Given the description of an element on the screen output the (x, y) to click on. 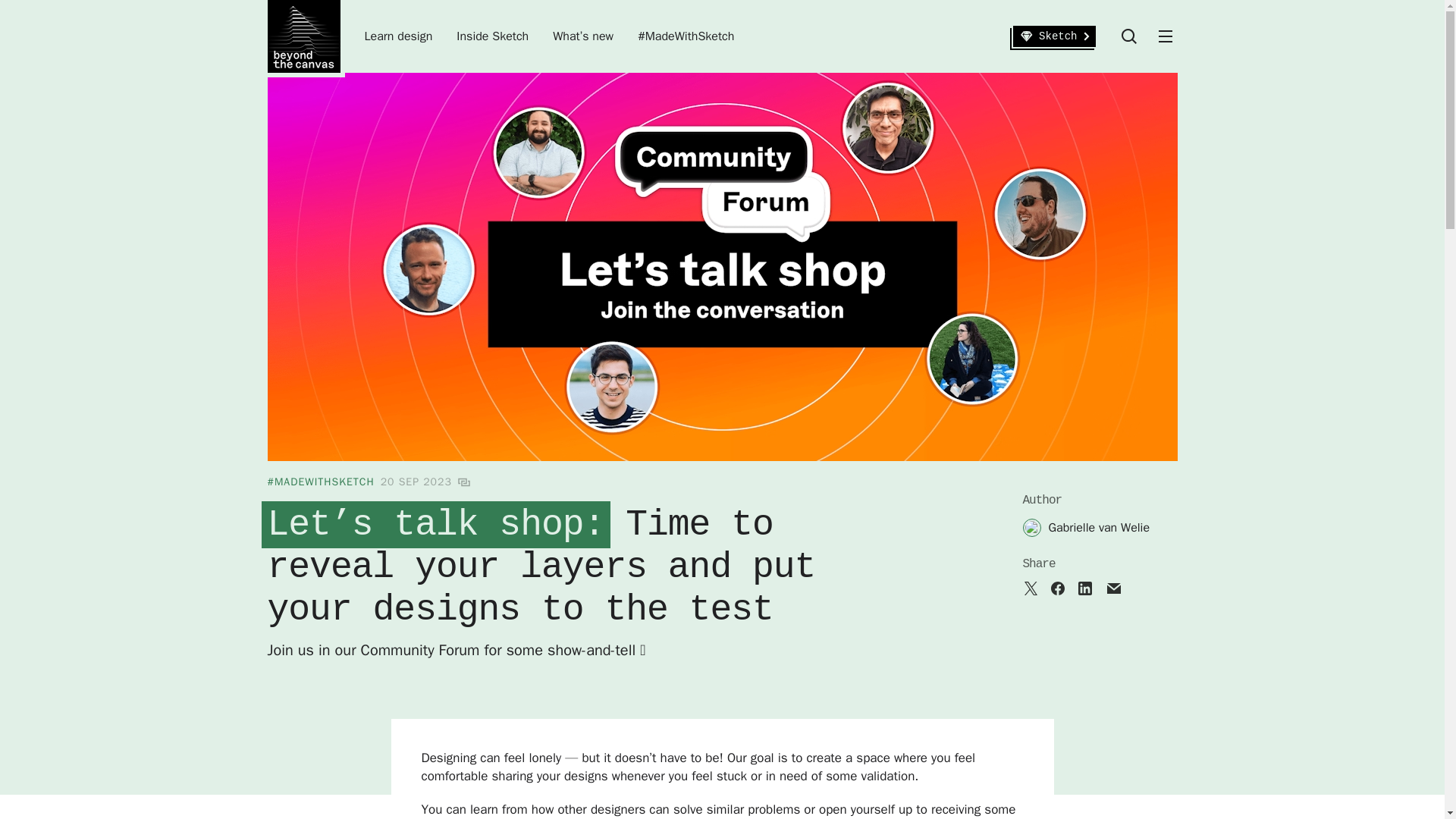
Share by Email (1112, 589)
